Given the description of an element on the screen output the (x, y) to click on. 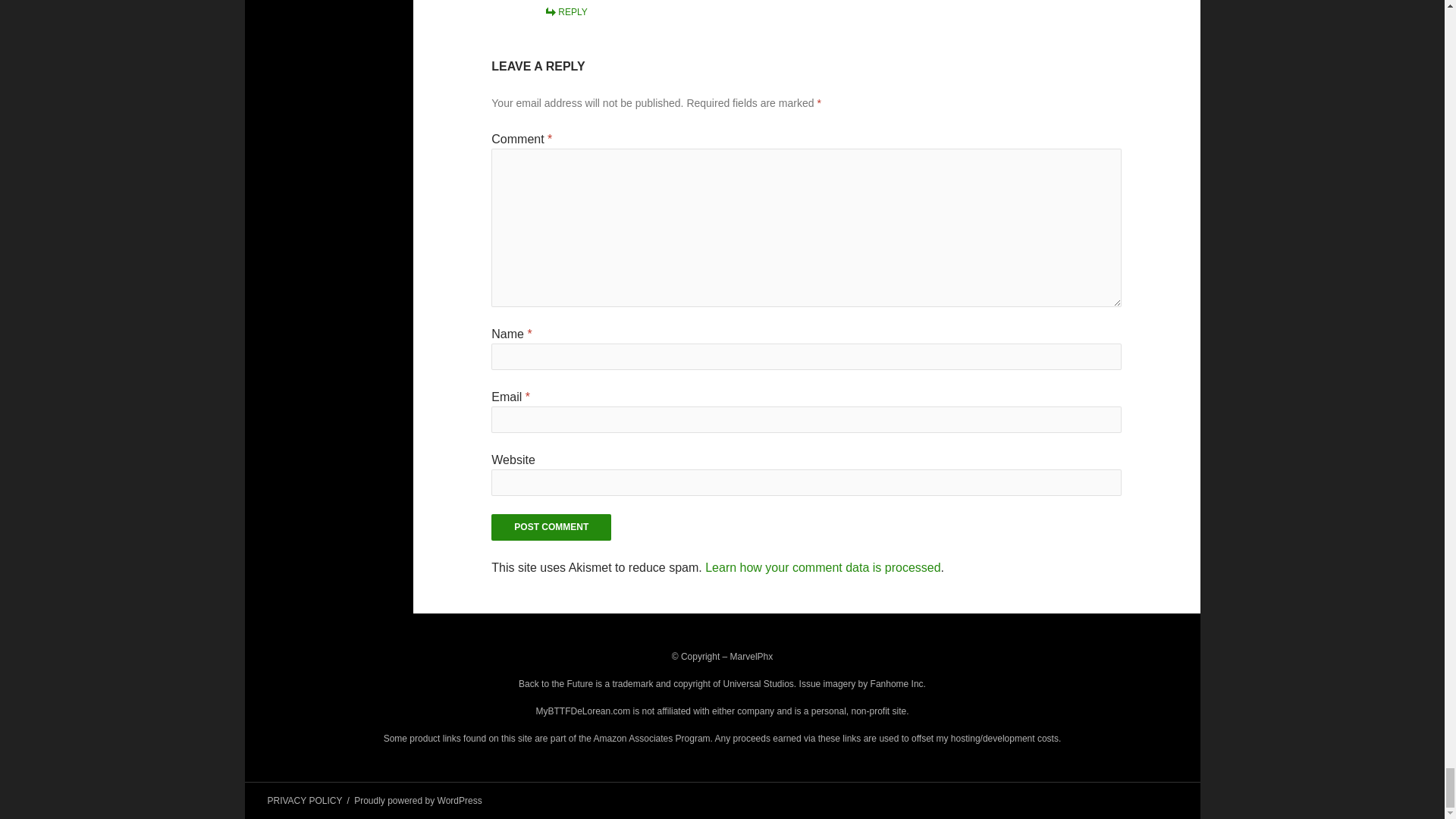
Post Comment (551, 527)
